Given the description of an element on the screen output the (x, y) to click on. 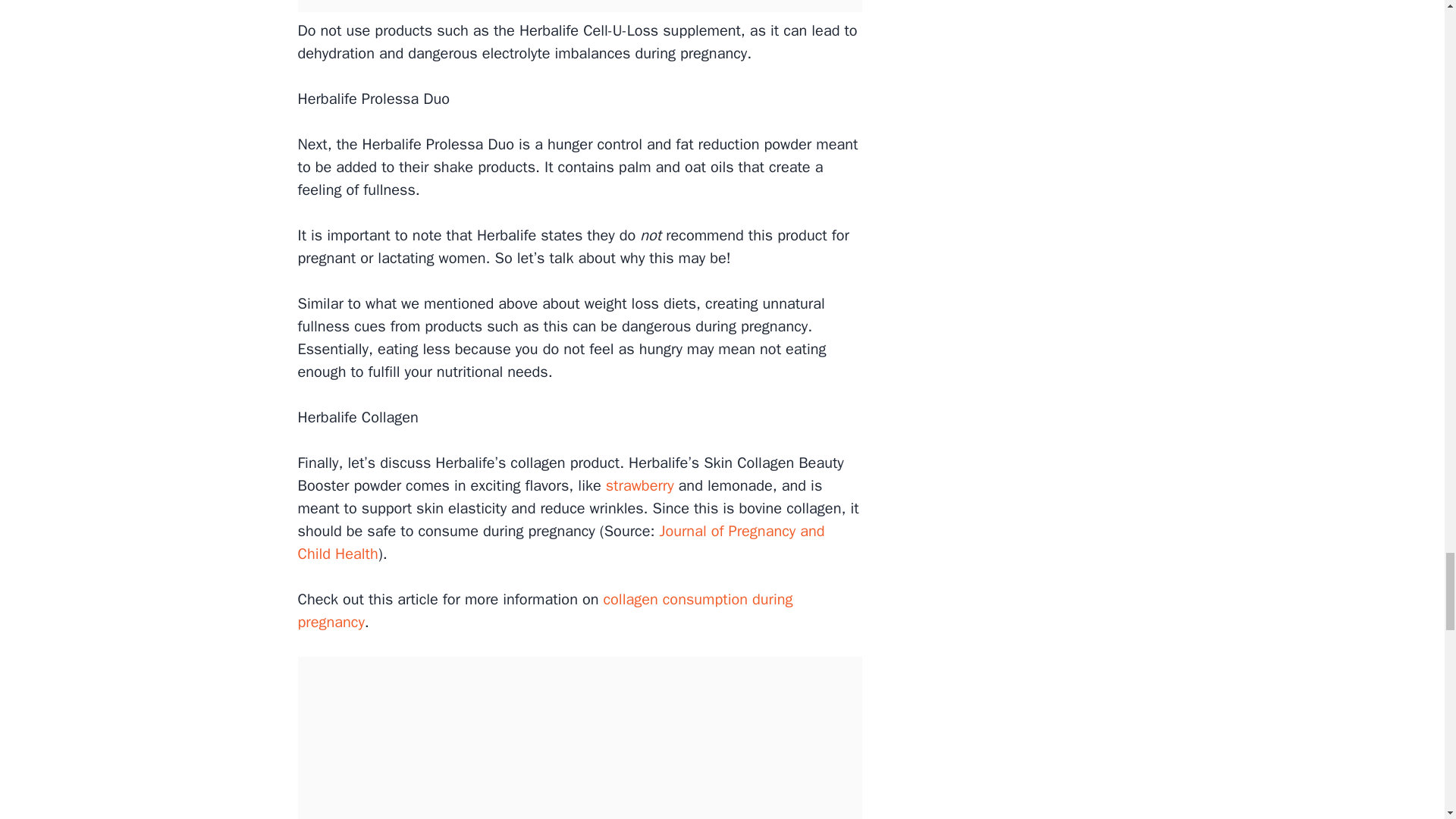
Journal of Pregnancy and Child Health (560, 542)
collagen consumption during pregnancy (544, 610)
strawberry (639, 485)
